Given the description of an element on the screen output the (x, y) to click on. 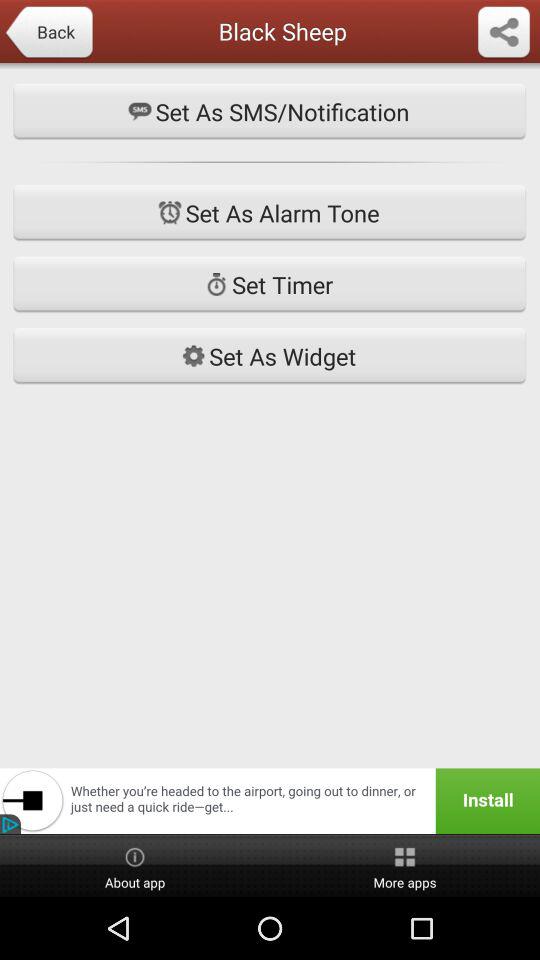
tap button above the about app item (270, 800)
